Given the description of an element on the screen output the (x, y) to click on. 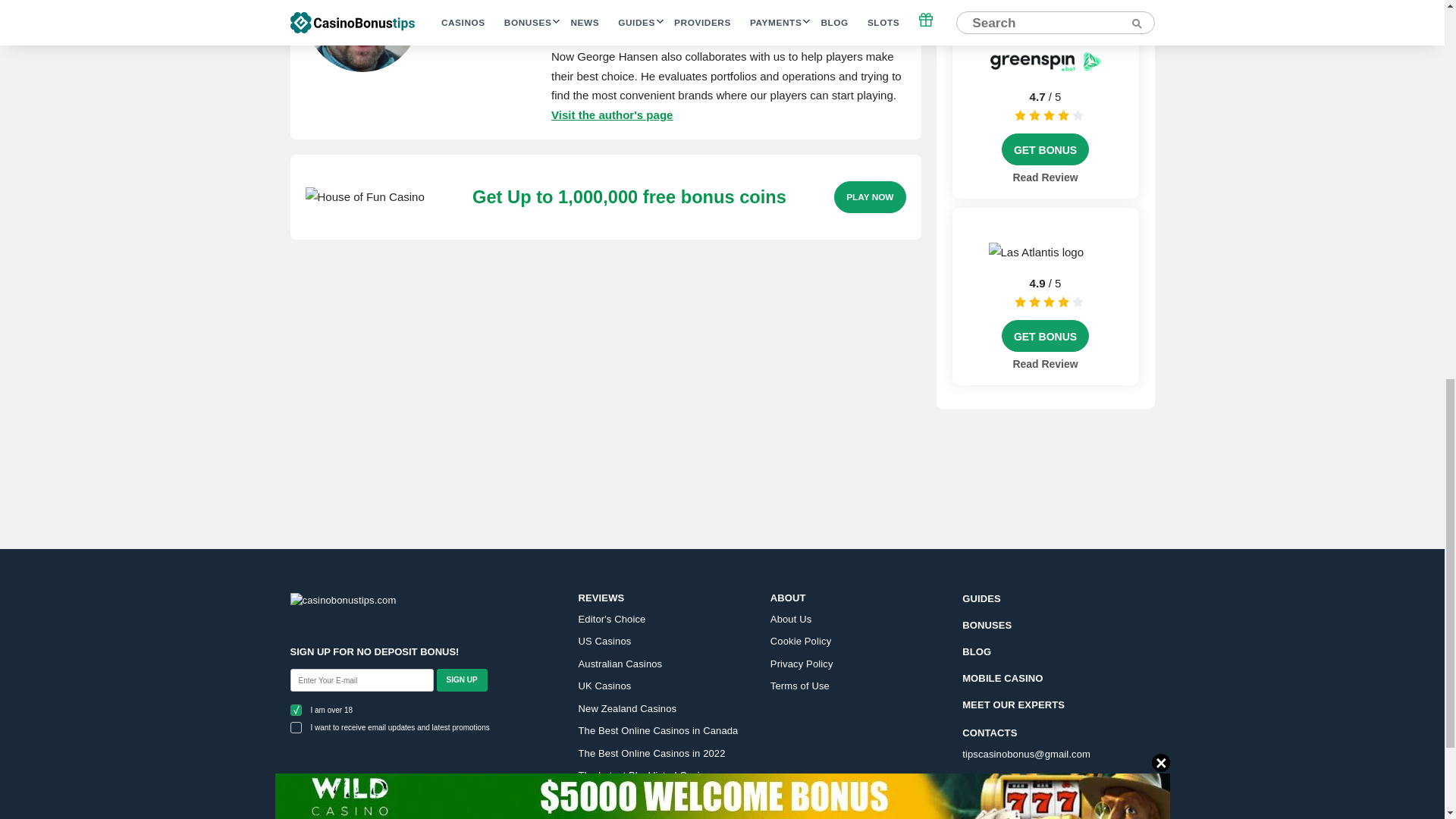
on (295, 709)
on (295, 727)
DMCA.com Protection Status (363, 801)
